Given the description of an element on the screen output the (x, y) to click on. 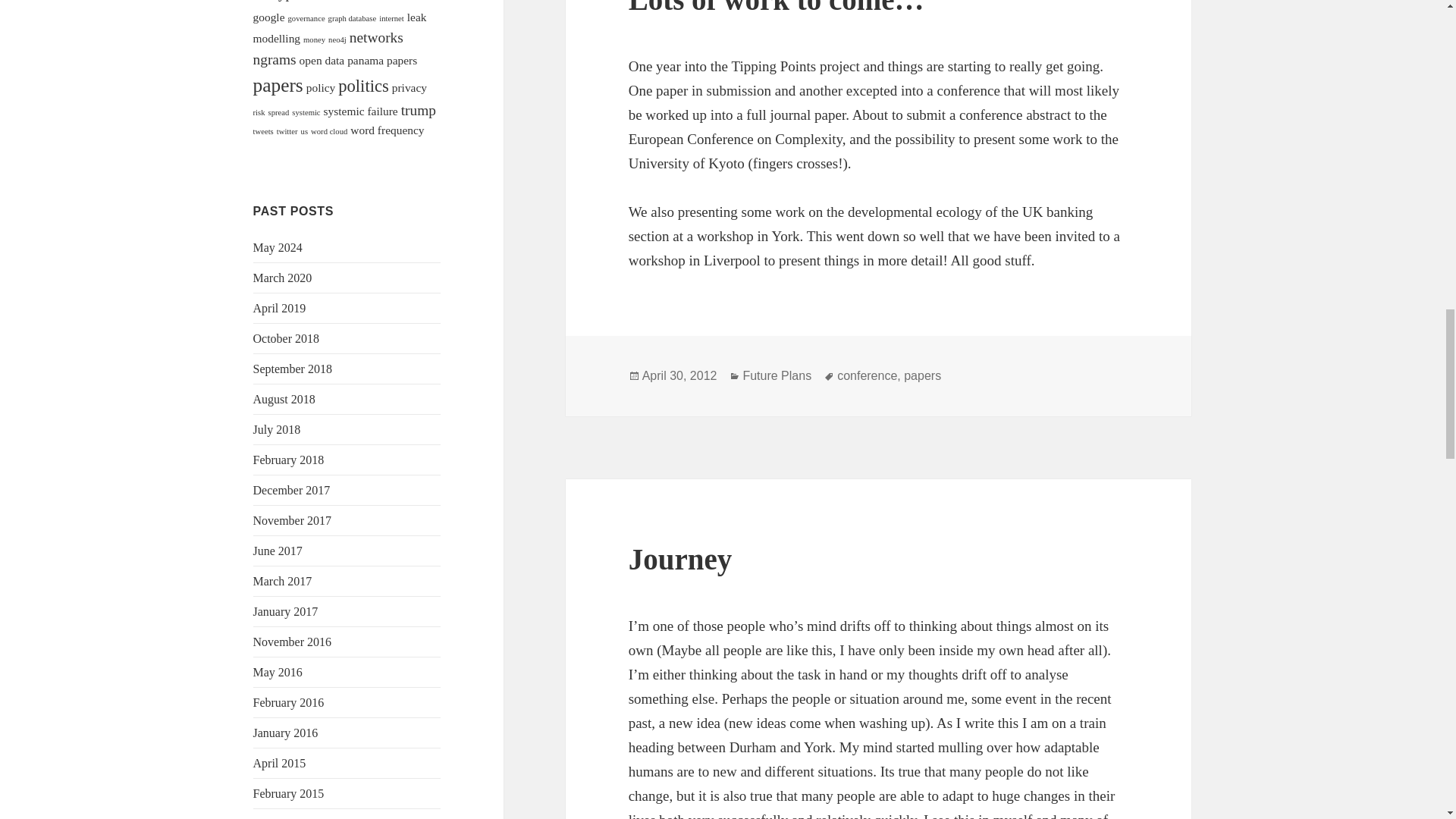
finance (374, 1)
encryption (284, 0)
google (269, 16)
